Given the description of an element on the screen output the (x, y) to click on. 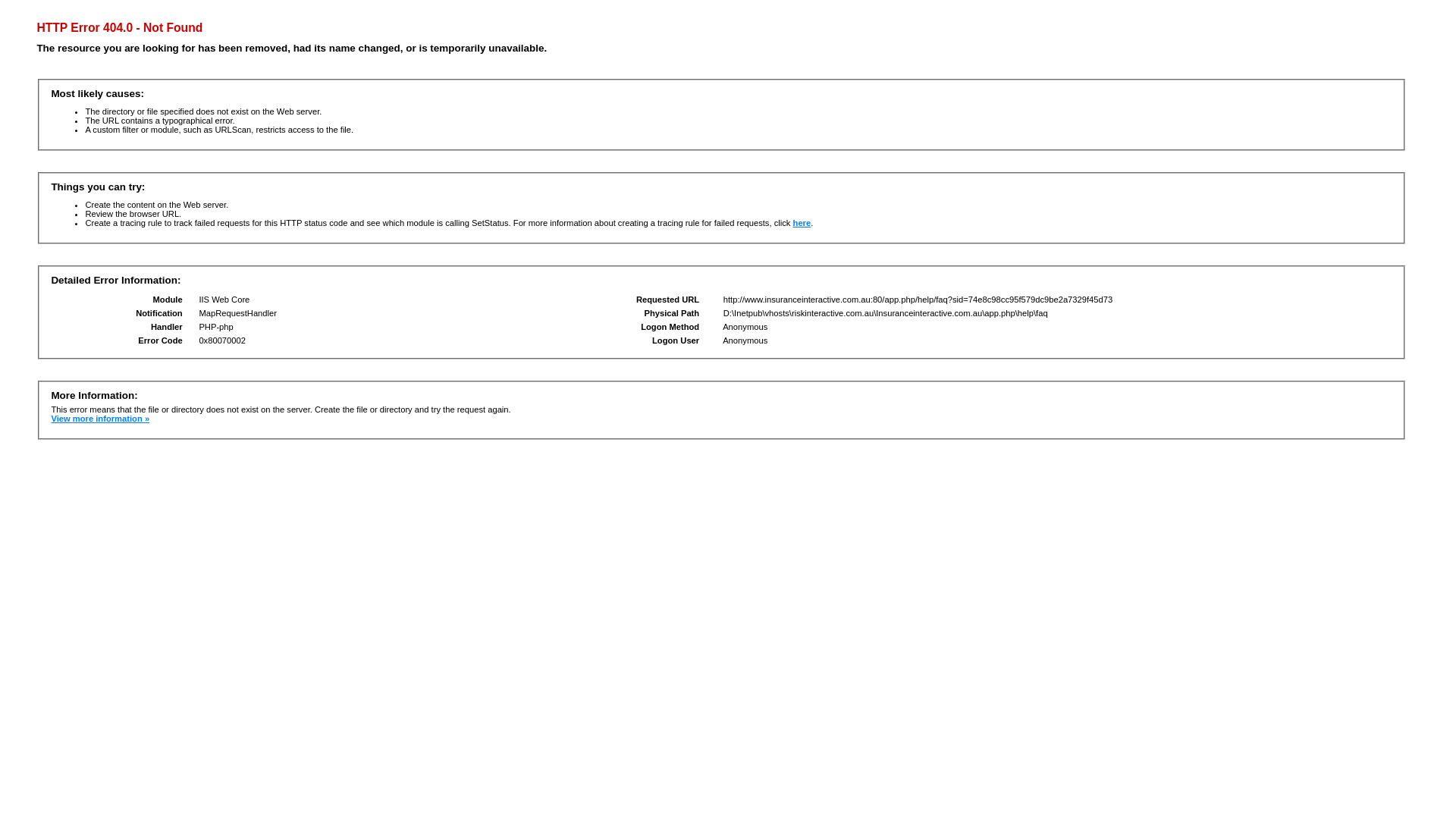
here Element type: text (802, 222)
